Given the description of an element on the screen output the (x, y) to click on. 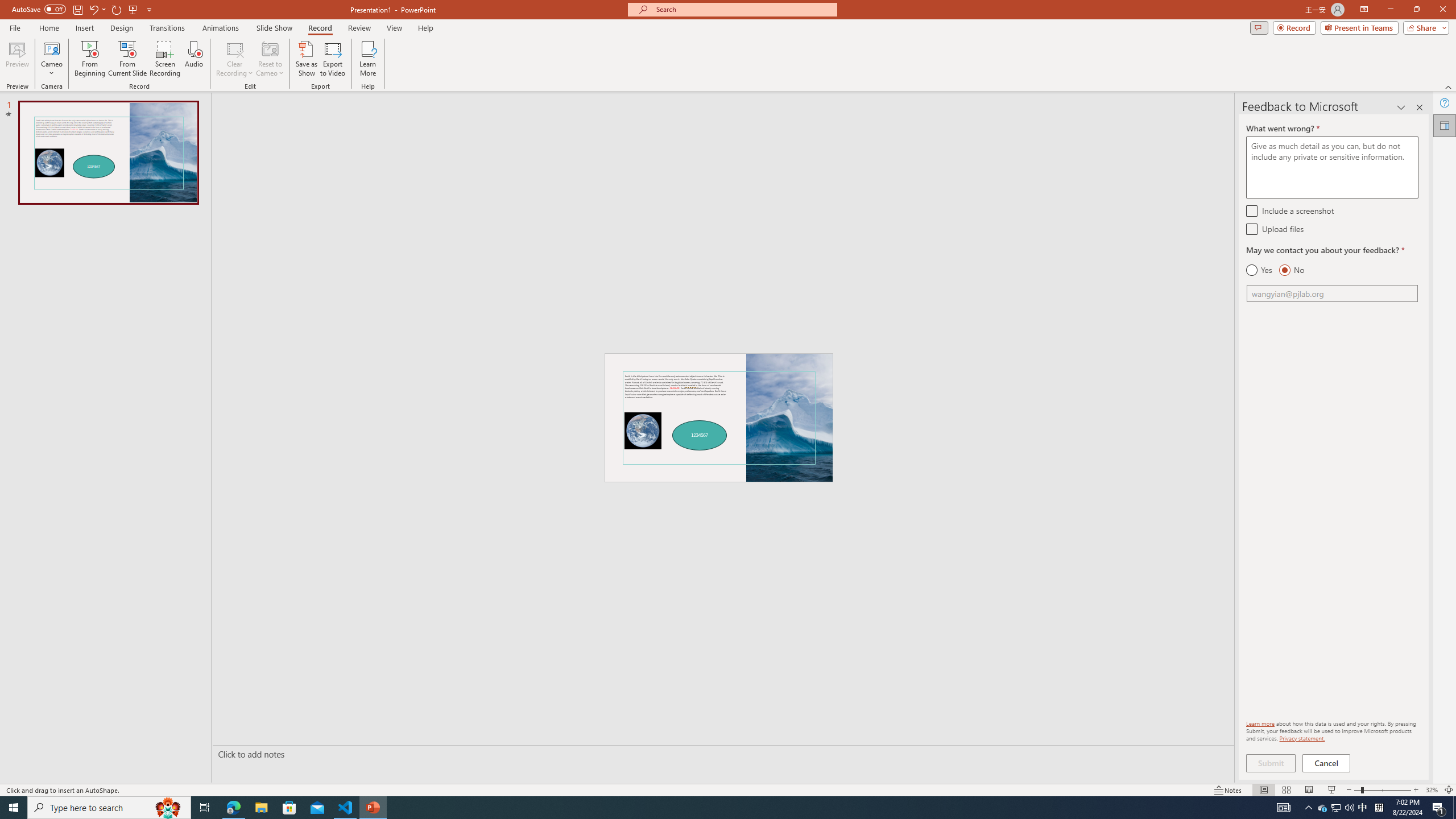
Upload files (1251, 228)
